Given the description of an element on the screen output the (x, y) to click on. 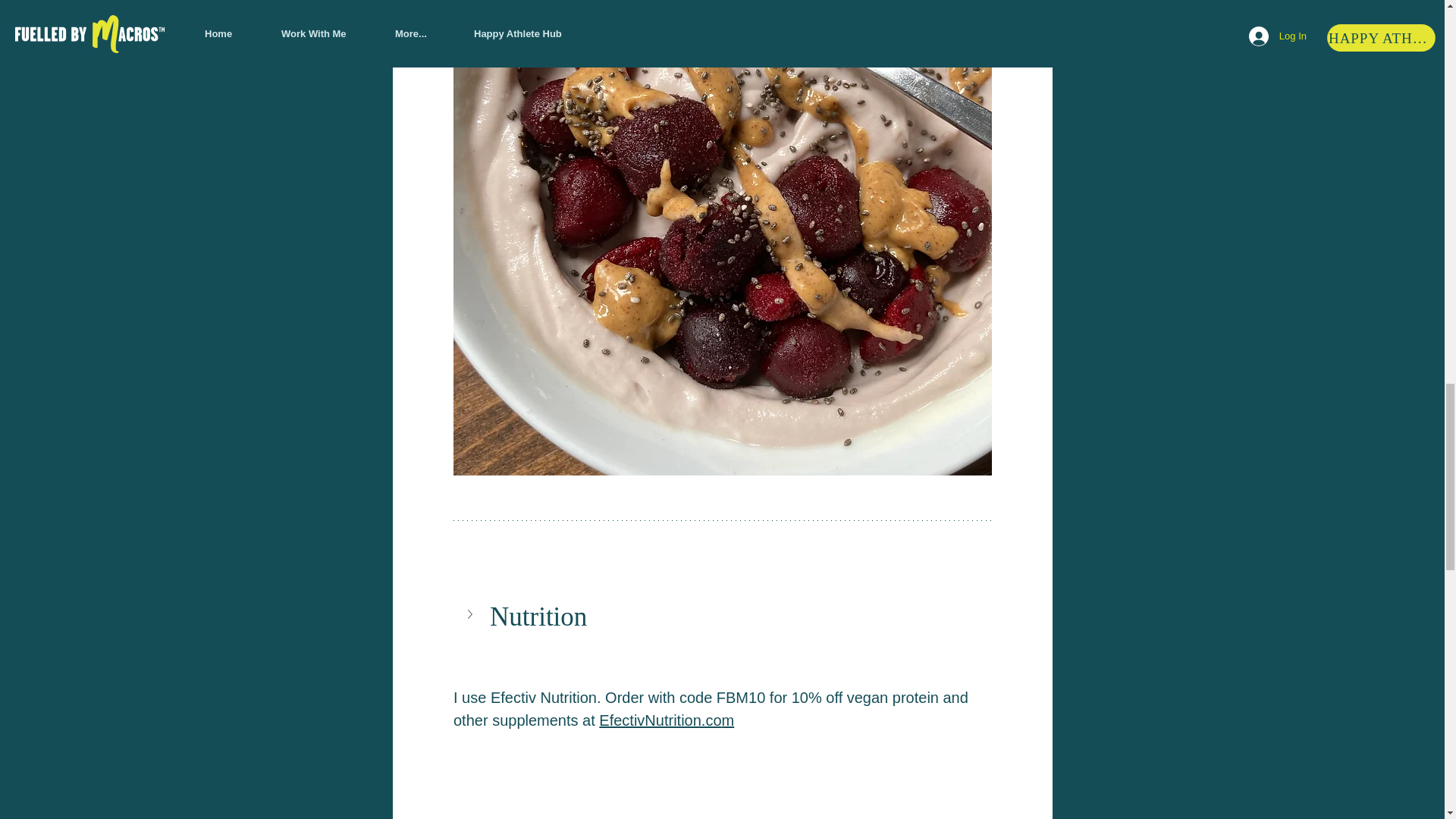
EfectivNutrition.co (659, 719)
